Given the description of an element on the screen output the (x, y) to click on. 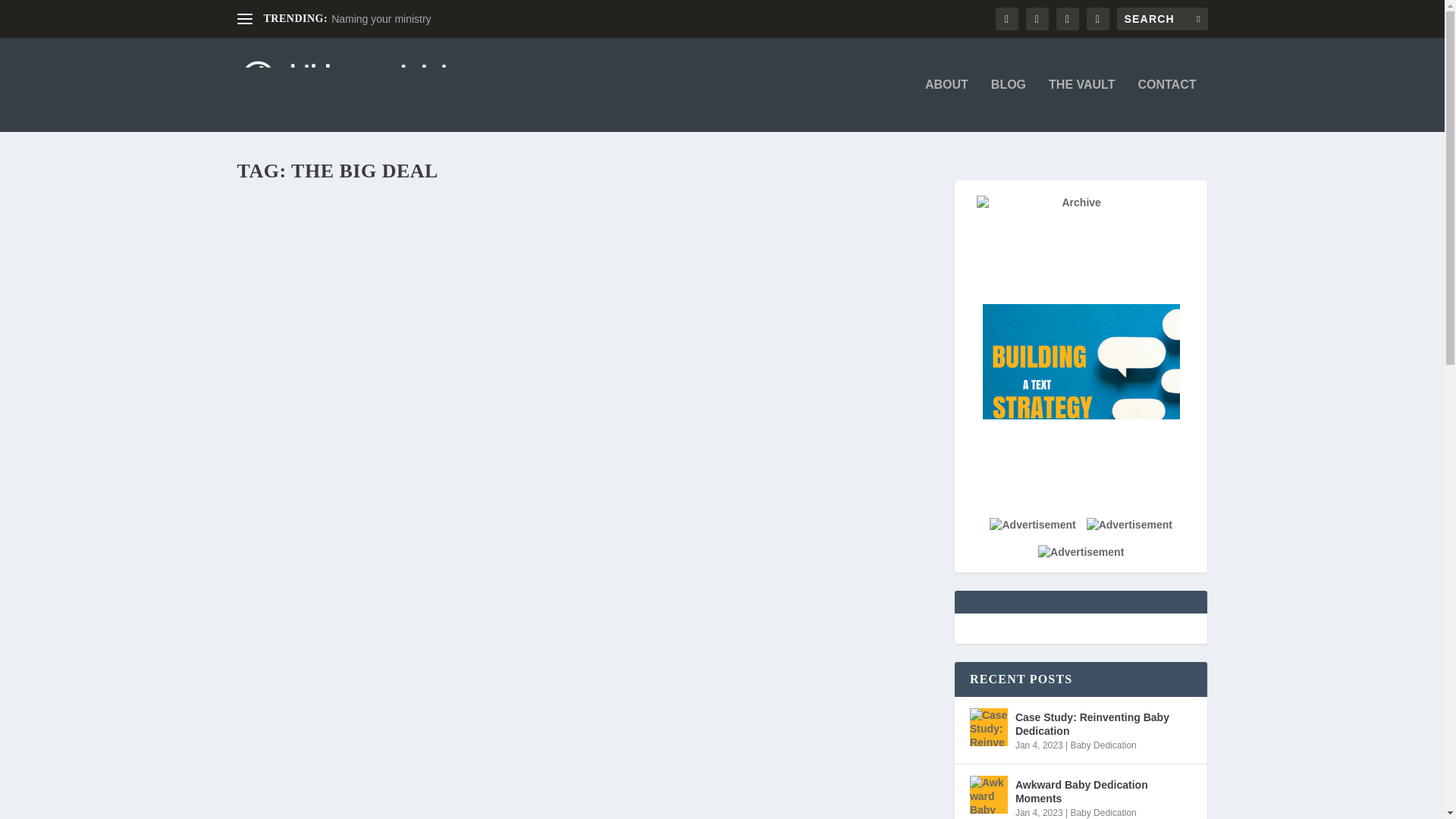
Search for: (1161, 18)
Baby Dedication (1102, 745)
Naming your ministry (380, 19)
THE VAULT (1081, 104)
Case Study: Reinventing Baby Dedication (988, 727)
Awkward Baby Dedication Moments (988, 794)
Baby Dedication (1102, 812)
Case Study: Reinventing Baby Dedication (1103, 724)
CONTACT (1166, 104)
Awkward Baby Dedication Moments (1103, 791)
